Given the description of an element on the screen output the (x, y) to click on. 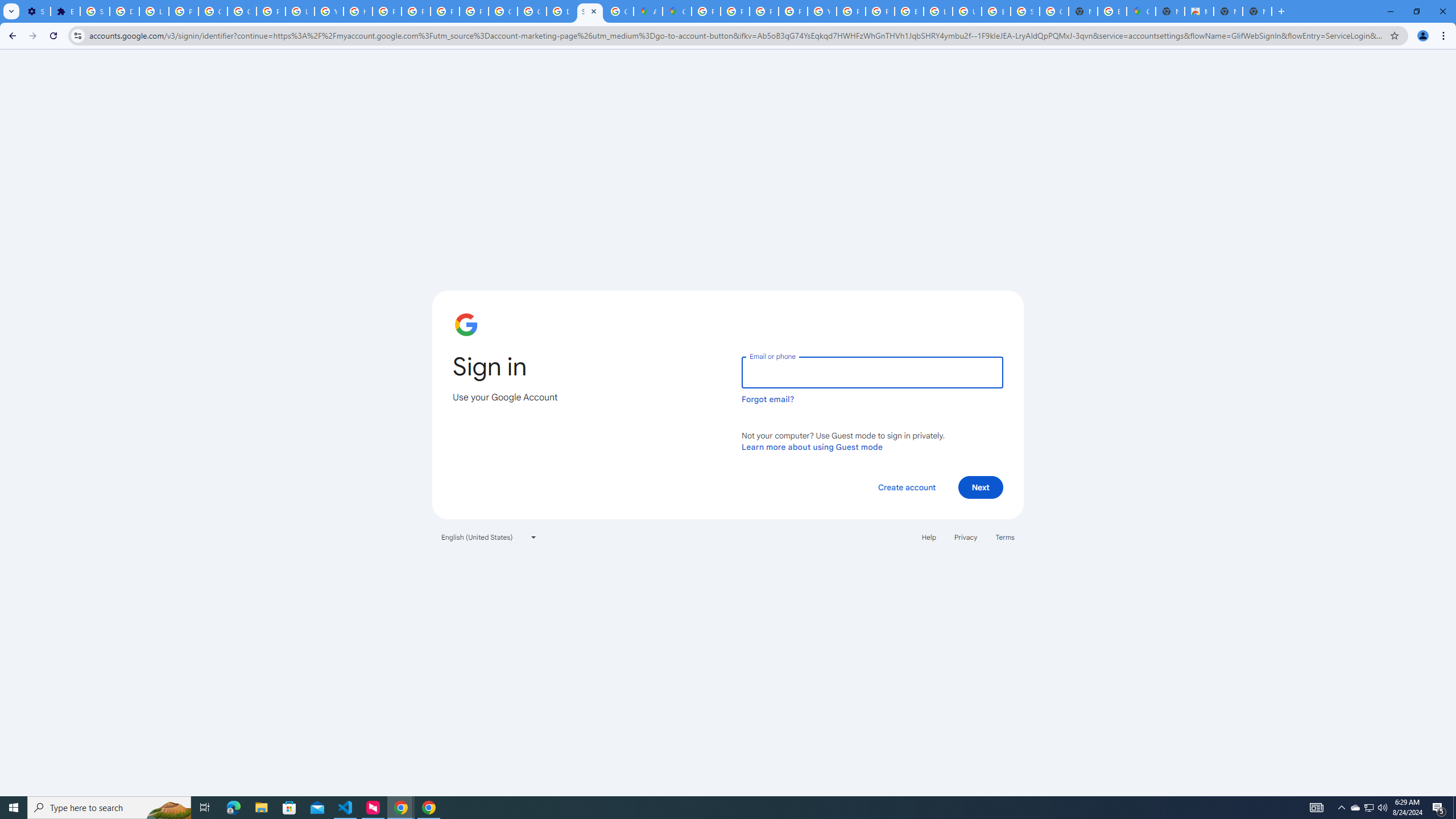
Bookmark this tab (1393, 35)
https://scholar.google.com/ (357, 11)
Learn more about using Guest mode (812, 446)
English (United States) (489, 536)
Search tabs (10, 11)
Forgot email? (767, 398)
Create account (905, 486)
Sign in - Google Accounts (95, 11)
View site information (77, 35)
Next (980, 486)
Explore new street-level details - Google Maps Help (1111, 11)
New Tab (1169, 11)
